Given the description of an element on the screen output the (x, y) to click on. 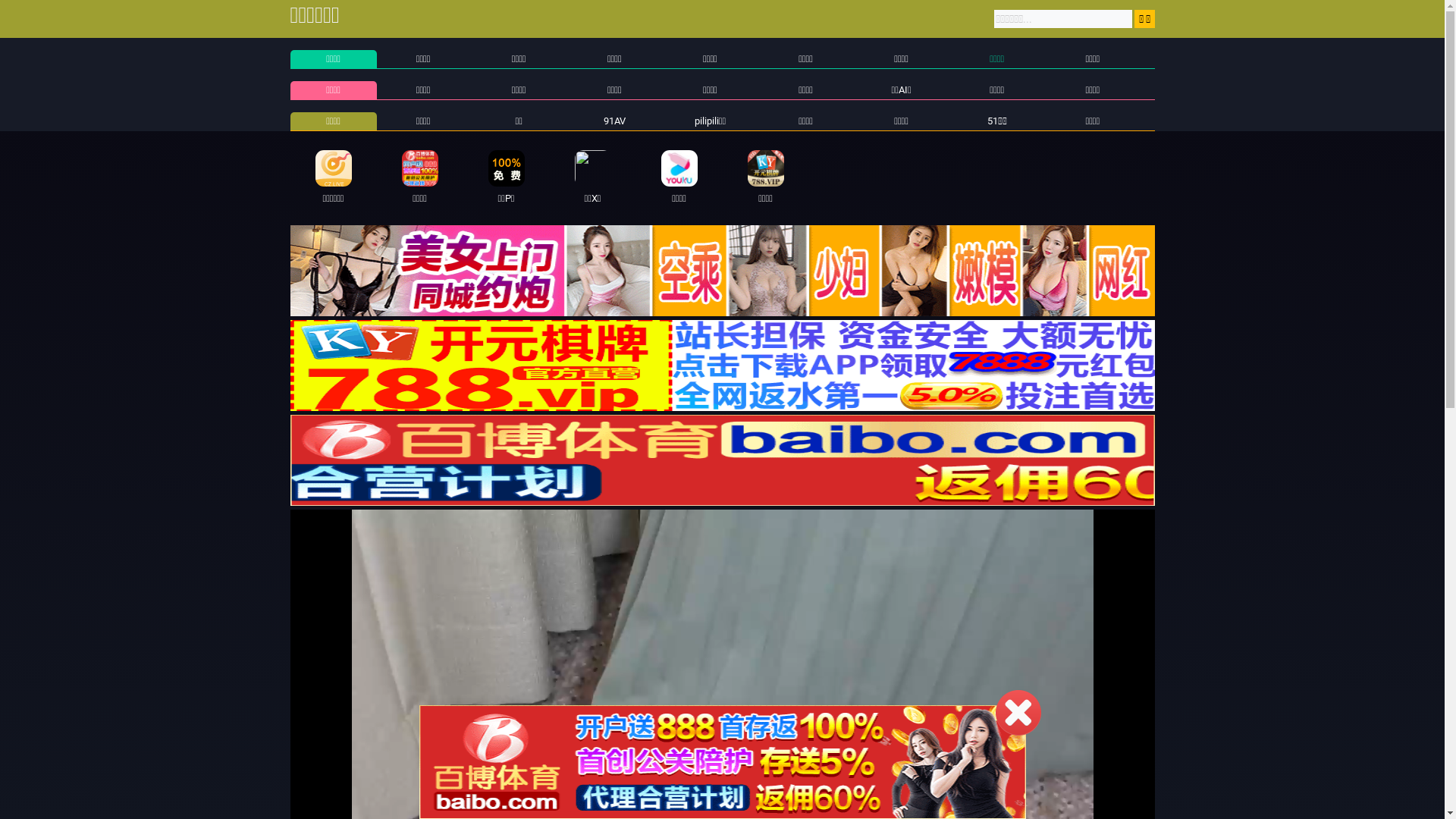
91AV Element type: text (614, 120)
